Given the description of an element on the screen output the (x, y) to click on. 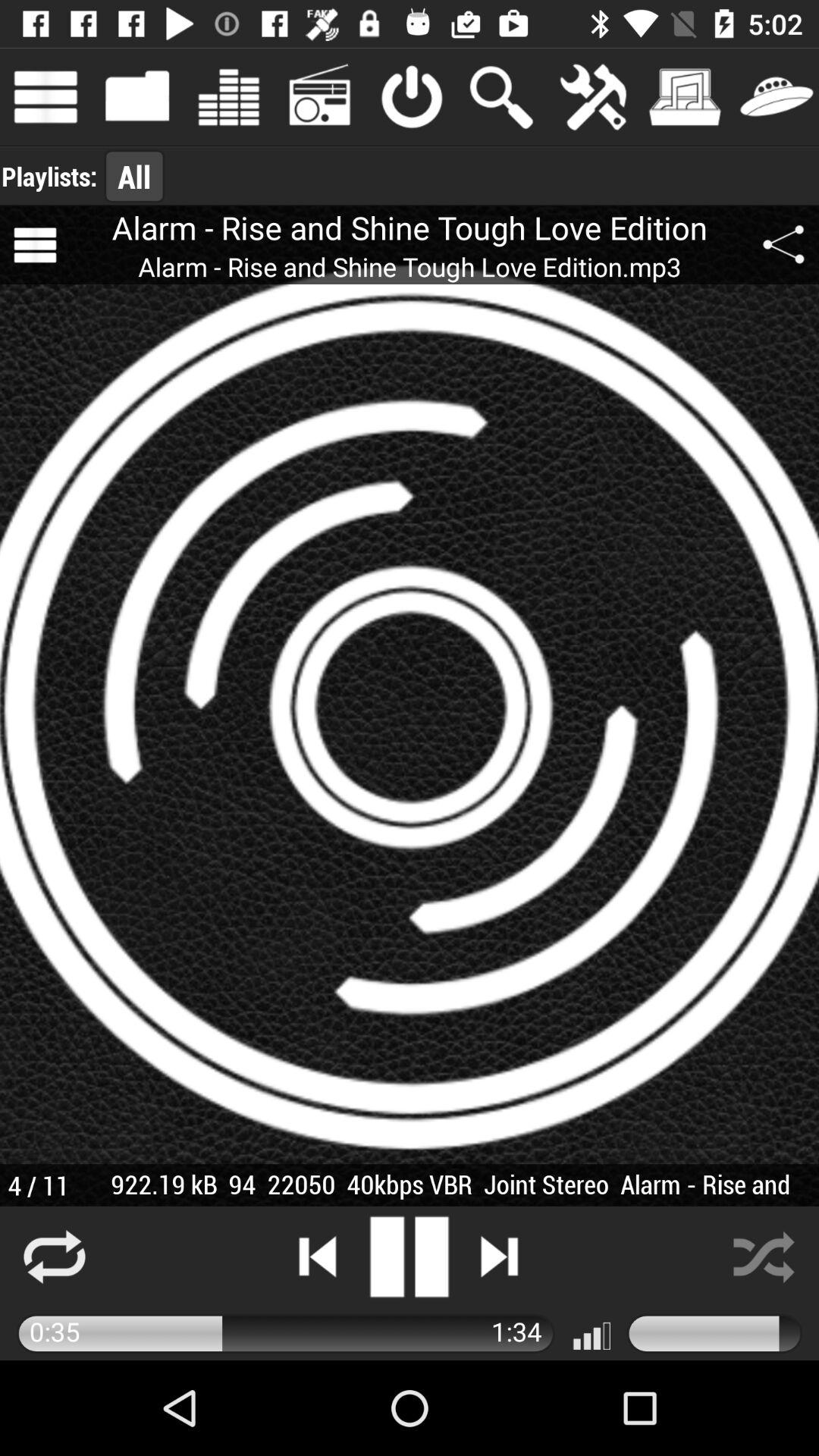
tap the app to the right of alarm rise and item (783, 244)
